Given the description of an element on the screen output the (x, y) to click on. 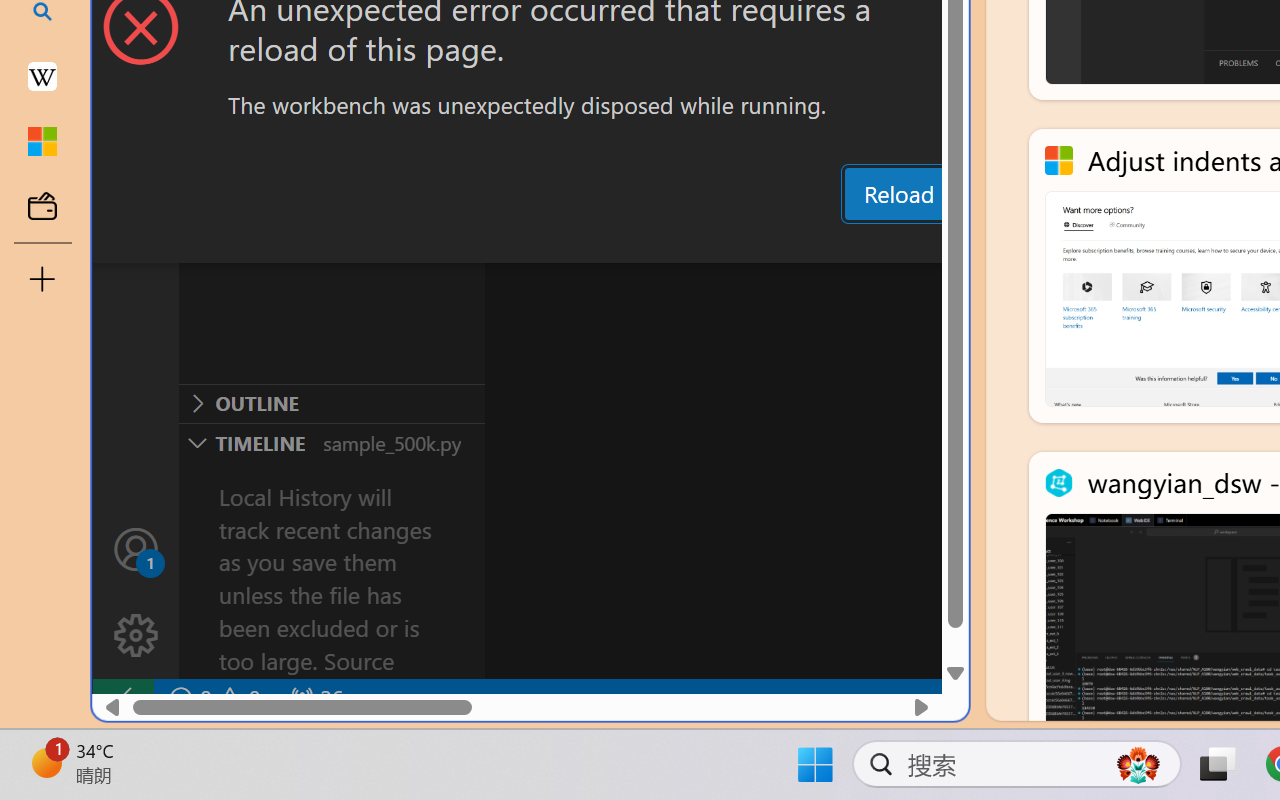
Manage (135, 635)
Output (Ctrl+Shift+U) (696, 243)
Manage (135, 591)
Debug Console (Ctrl+Shift+Y) (854, 243)
